Given the description of an element on the screen output the (x, y) to click on. 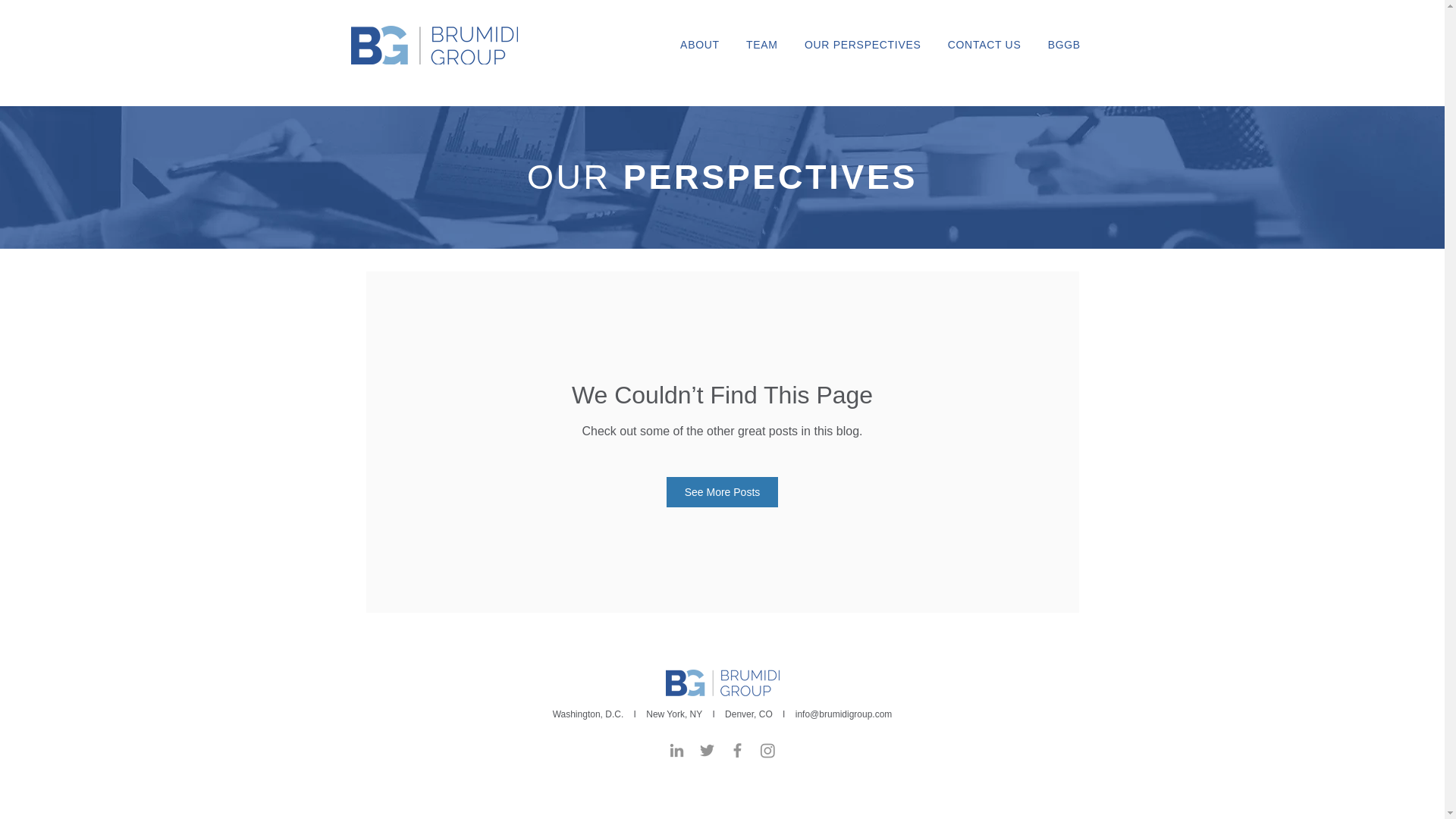
TEAM (761, 44)
See More Posts (722, 491)
BGGB (1063, 44)
ABOUT (699, 44)
CONTACT US (983, 44)
OUR PERSPECTIVES (862, 44)
